Given the description of an element on the screen output the (x, y) to click on. 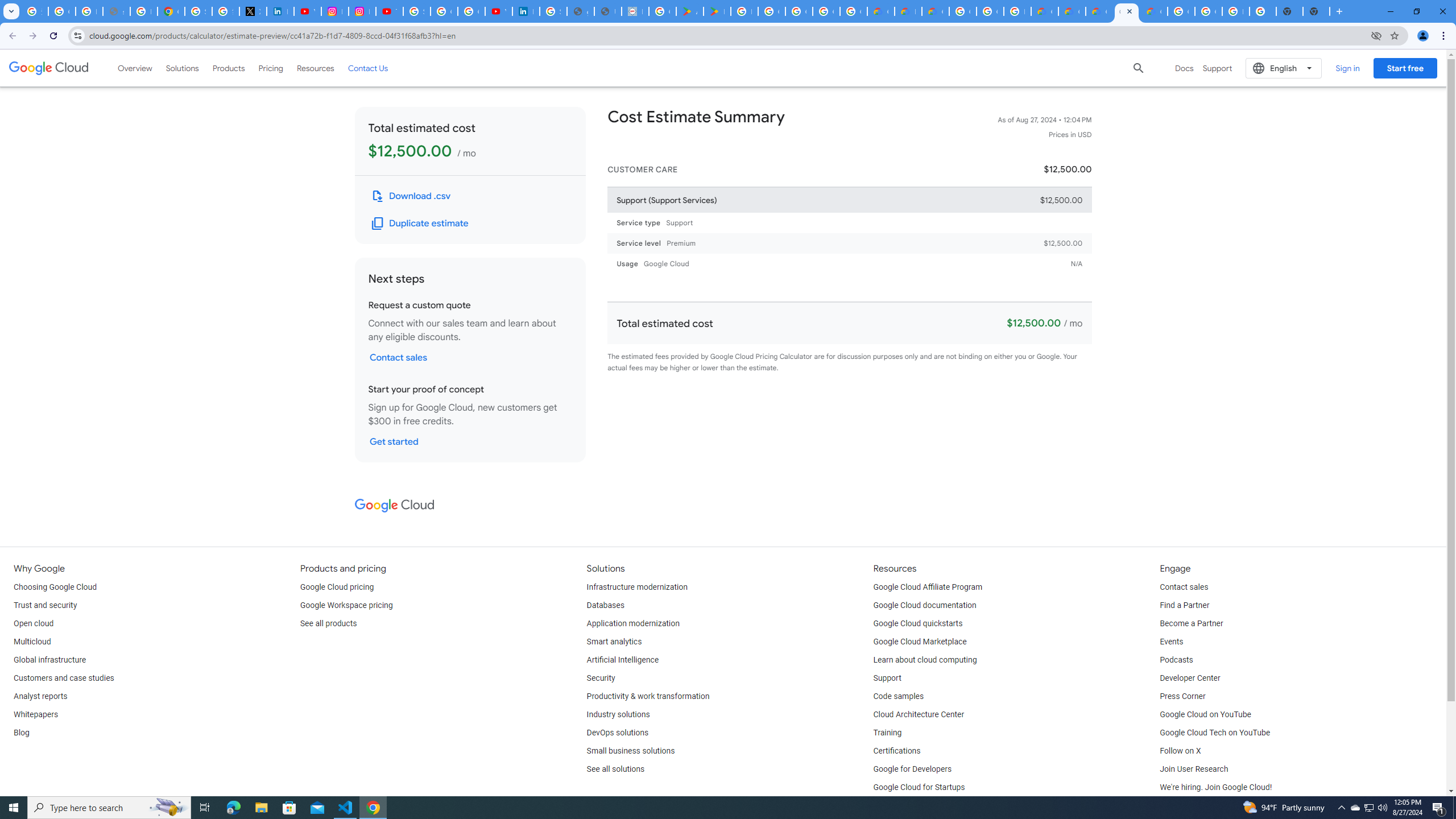
Smart analytics (614, 642)
PAW Patrol Rescue World - Apps on Google Play (716, 11)
Infrastructure modernization (637, 587)
Google Workspace - Specific Terms (826, 11)
Contact sales (1183, 587)
Google Cloud Platform (962, 11)
Data Privacy Framework (634, 11)
Google Cloud (393, 505)
Analyst reports (39, 696)
Resources (314, 67)
